Given the description of an element on the screen output the (x, y) to click on. 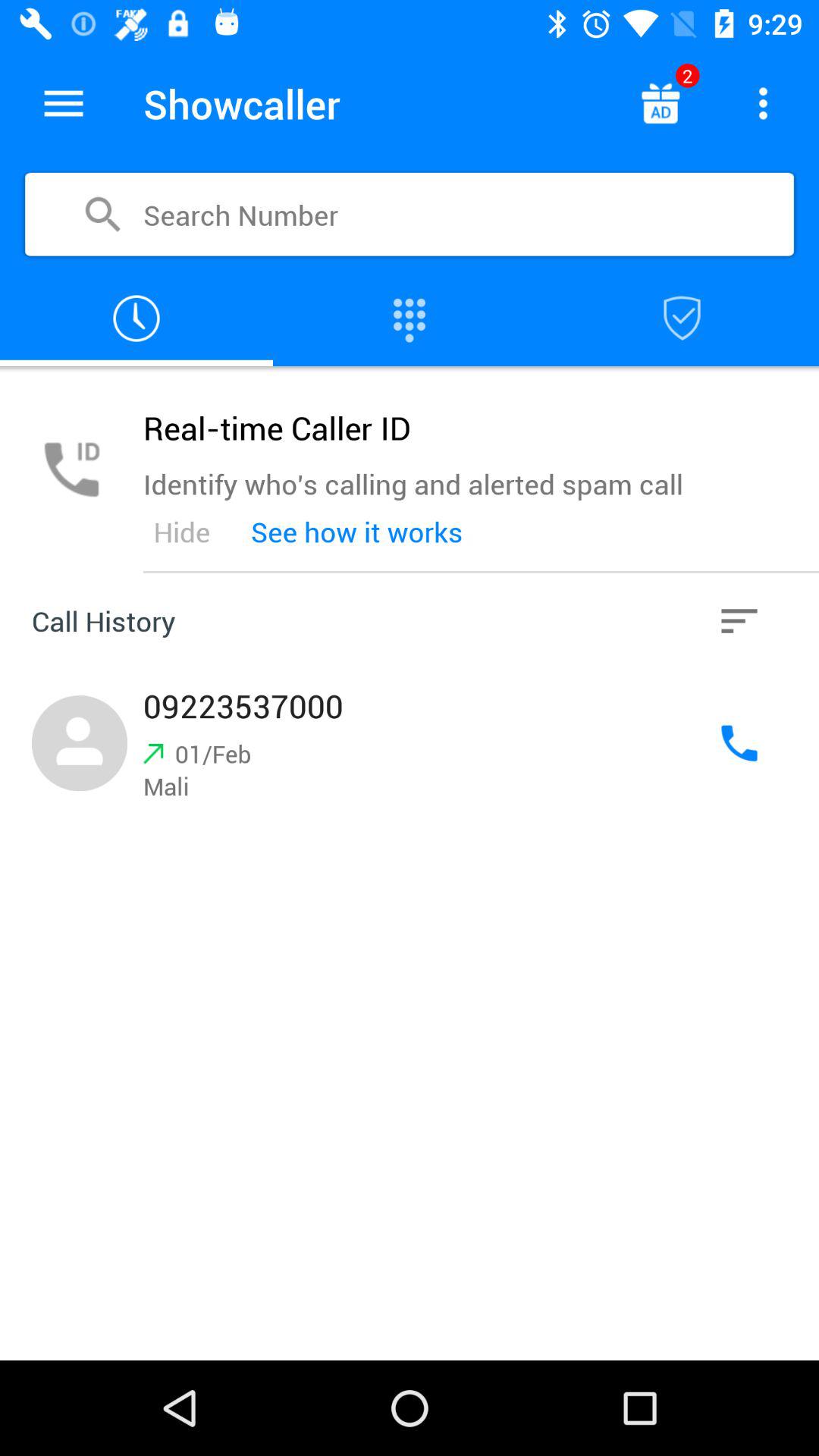
call us (739, 743)
